Given the description of an element on the screen output the (x, y) to click on. 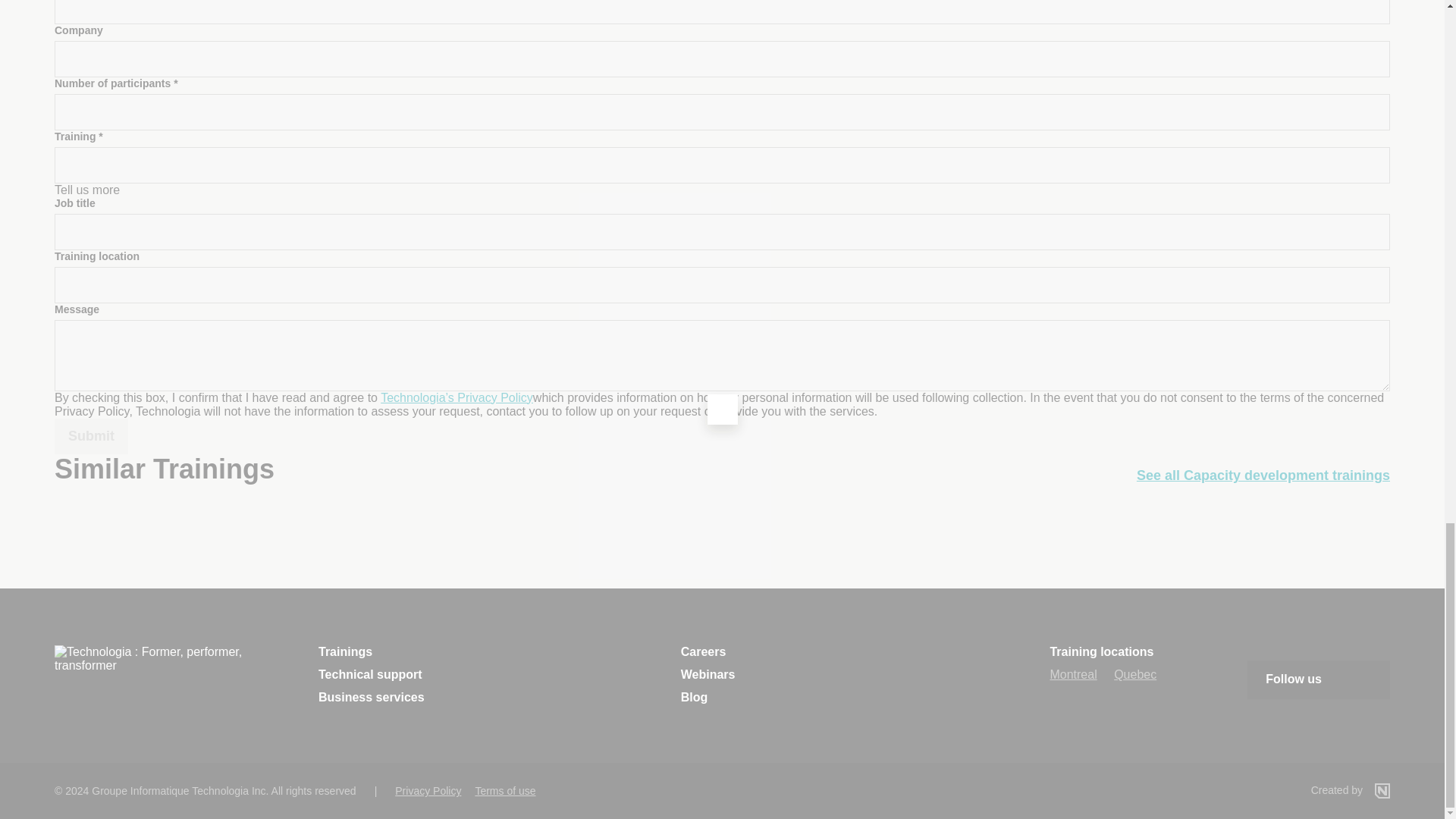
Submit (91, 436)
true (59, 396)
Please enter a number between 1 and 100 (722, 112)
